Given the description of an element on the screen output the (x, y) to click on. 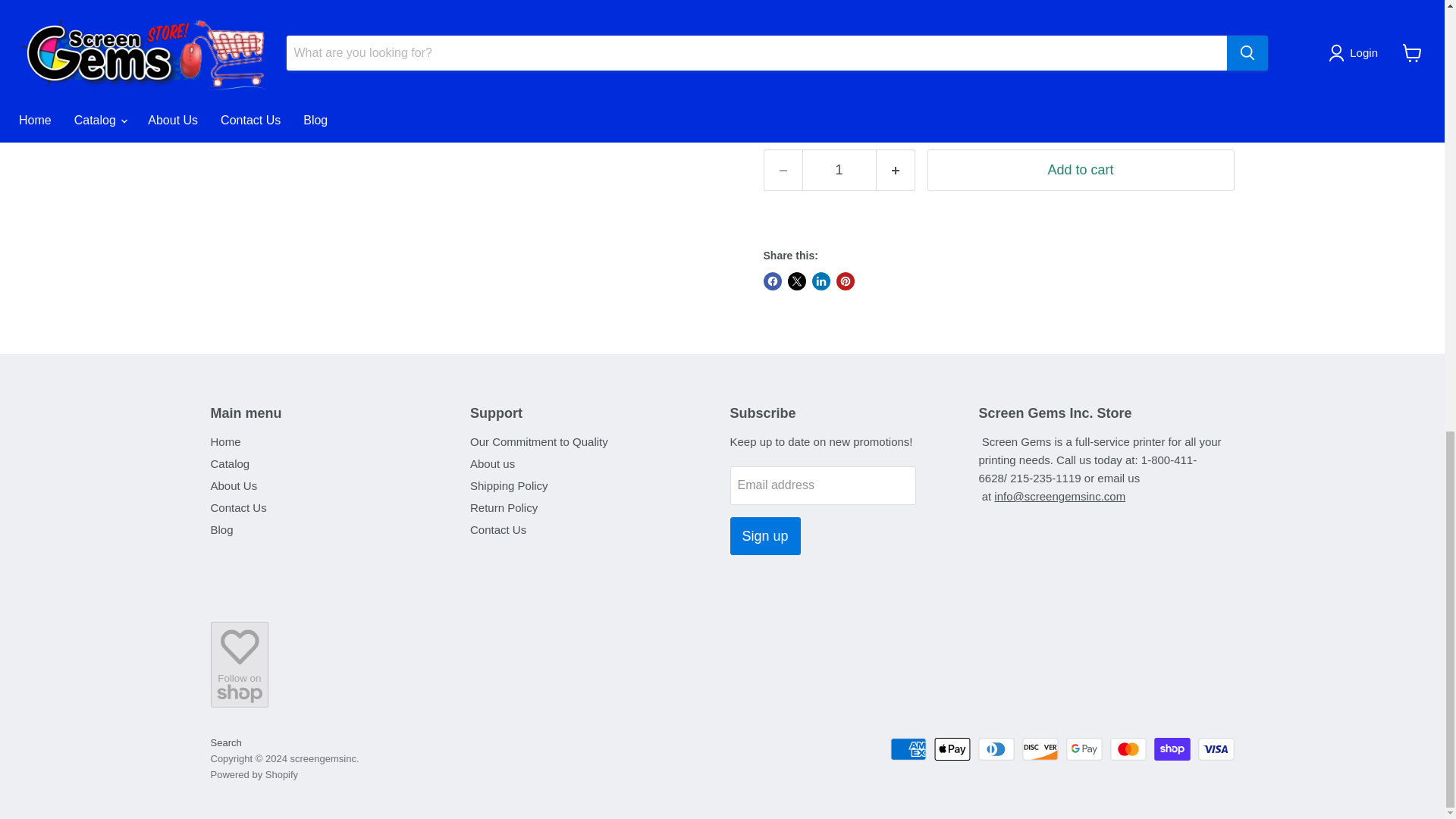
Discover (1040, 748)
Shop Pay (1172, 748)
1 (839, 169)
American Express (907, 748)
Apple Pay (952, 748)
Google Pay (1083, 748)
Mastercard (1128, 748)
Diners Club (996, 748)
